Given the description of an element on the screen output the (x, y) to click on. 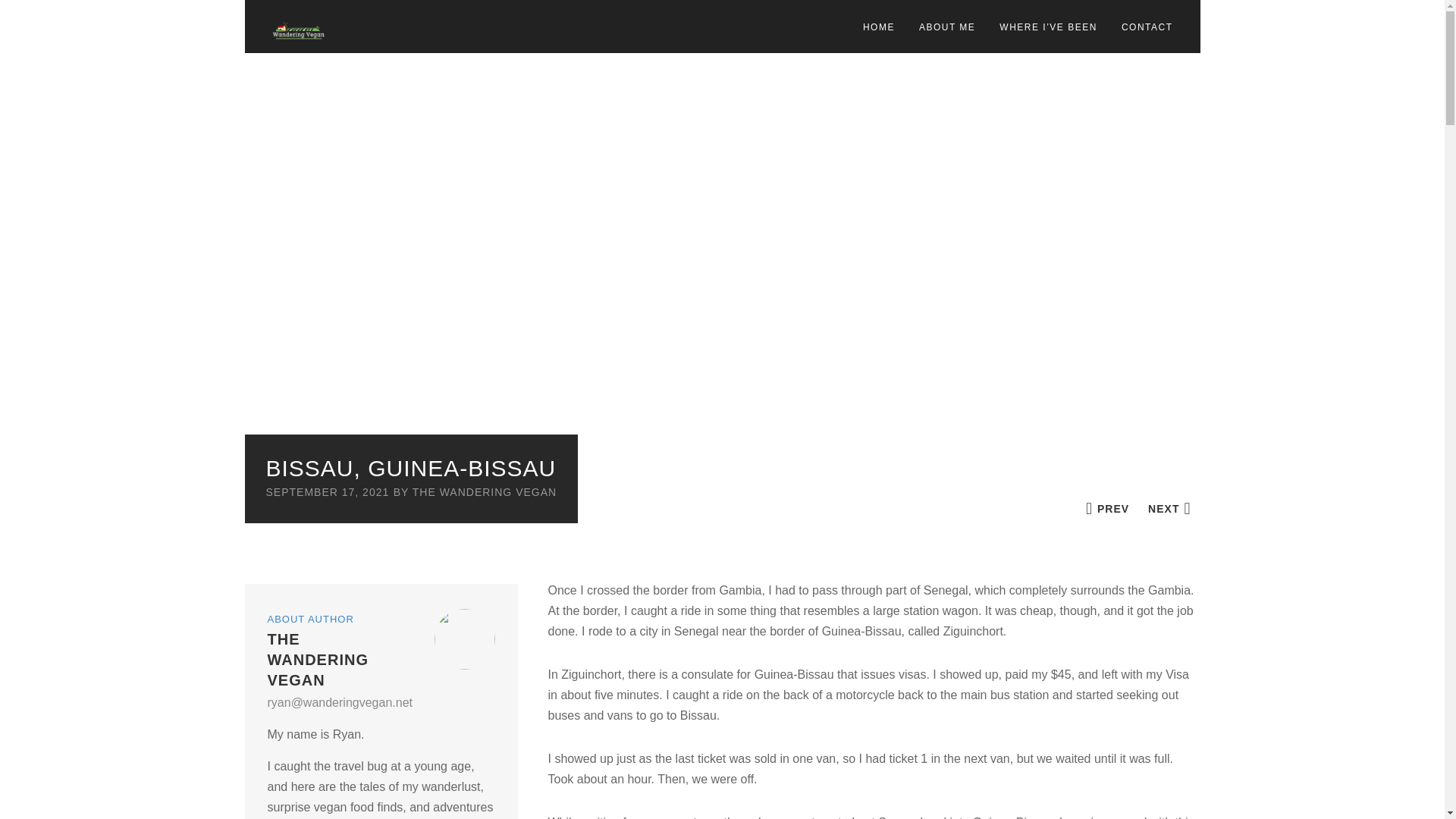
NEXT (1168, 508)
HOME (878, 26)
ABOUT ME (947, 26)
SEPTEMBER 17, 2021 (326, 491)
PREV (1107, 508)
THE WANDERING VEGAN (317, 659)
CONTACT (1146, 26)
THE WANDERING VEGAN (484, 491)
Previous Point On Map (1107, 508)
Next Point On Map (1168, 508)
